Given the description of an element on the screen output the (x, y) to click on. 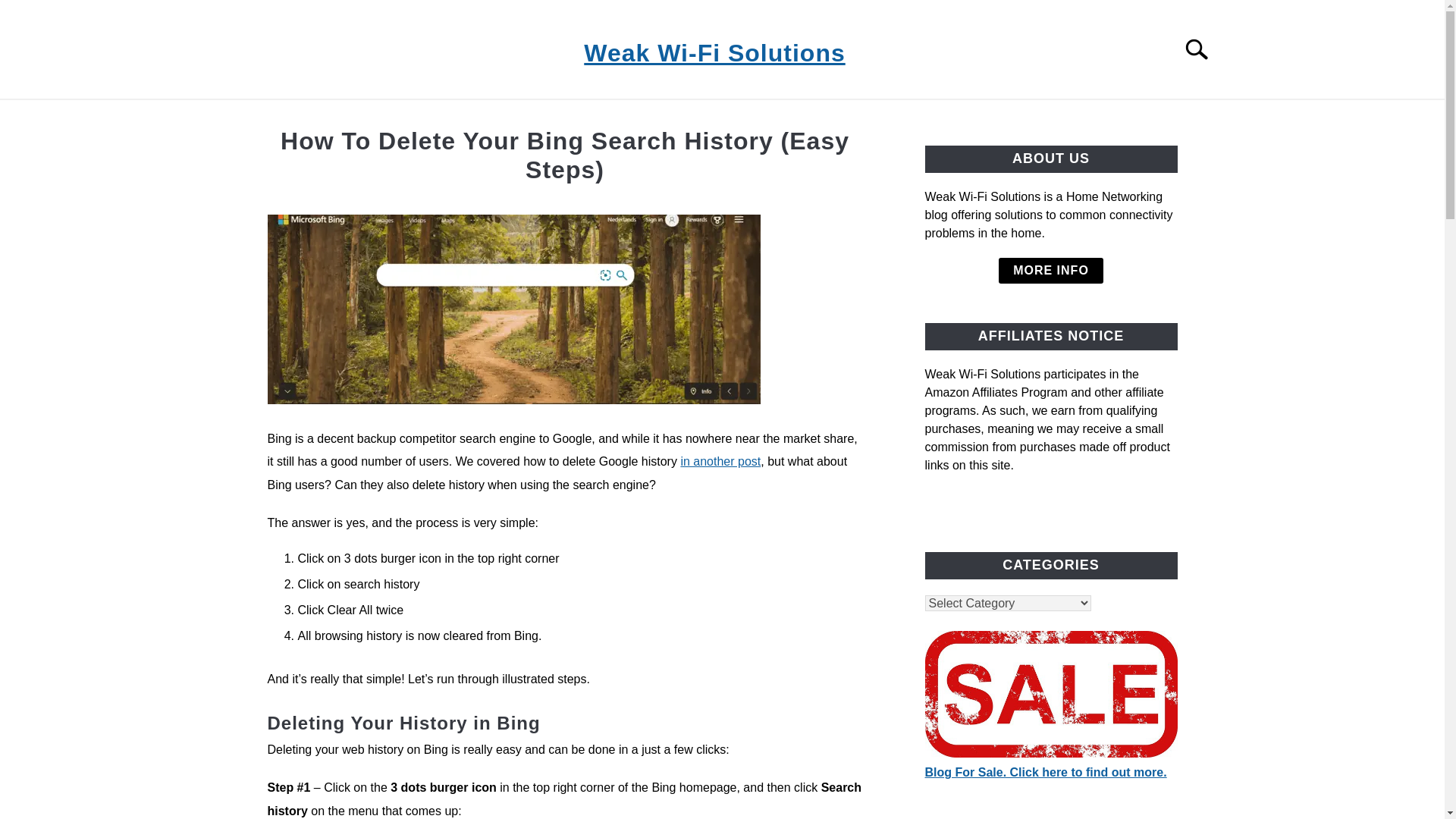
MORE INFO (1050, 270)
ARTICOLI IN ITALIANO (657, 117)
in another post (719, 461)
HOME (336, 117)
Weak Wi-Fi Solutions (713, 53)
Search (1203, 49)
Blog For Sale. Click here to find out more. (1045, 771)
